Given the description of an element on the screen output the (x, y) to click on. 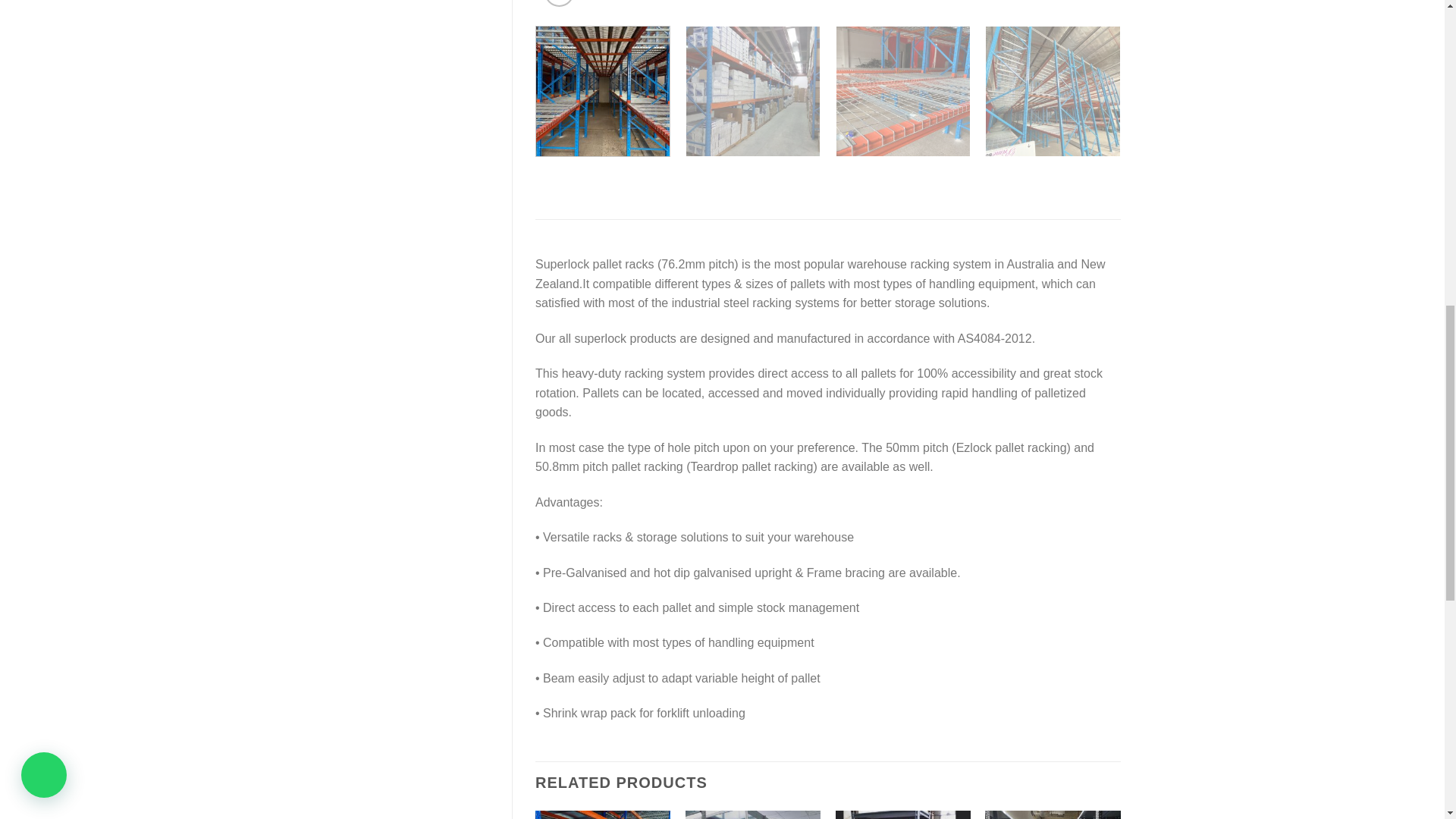
Zoom (558, 3)
